Given the description of an element on the screen output the (x, y) to click on. 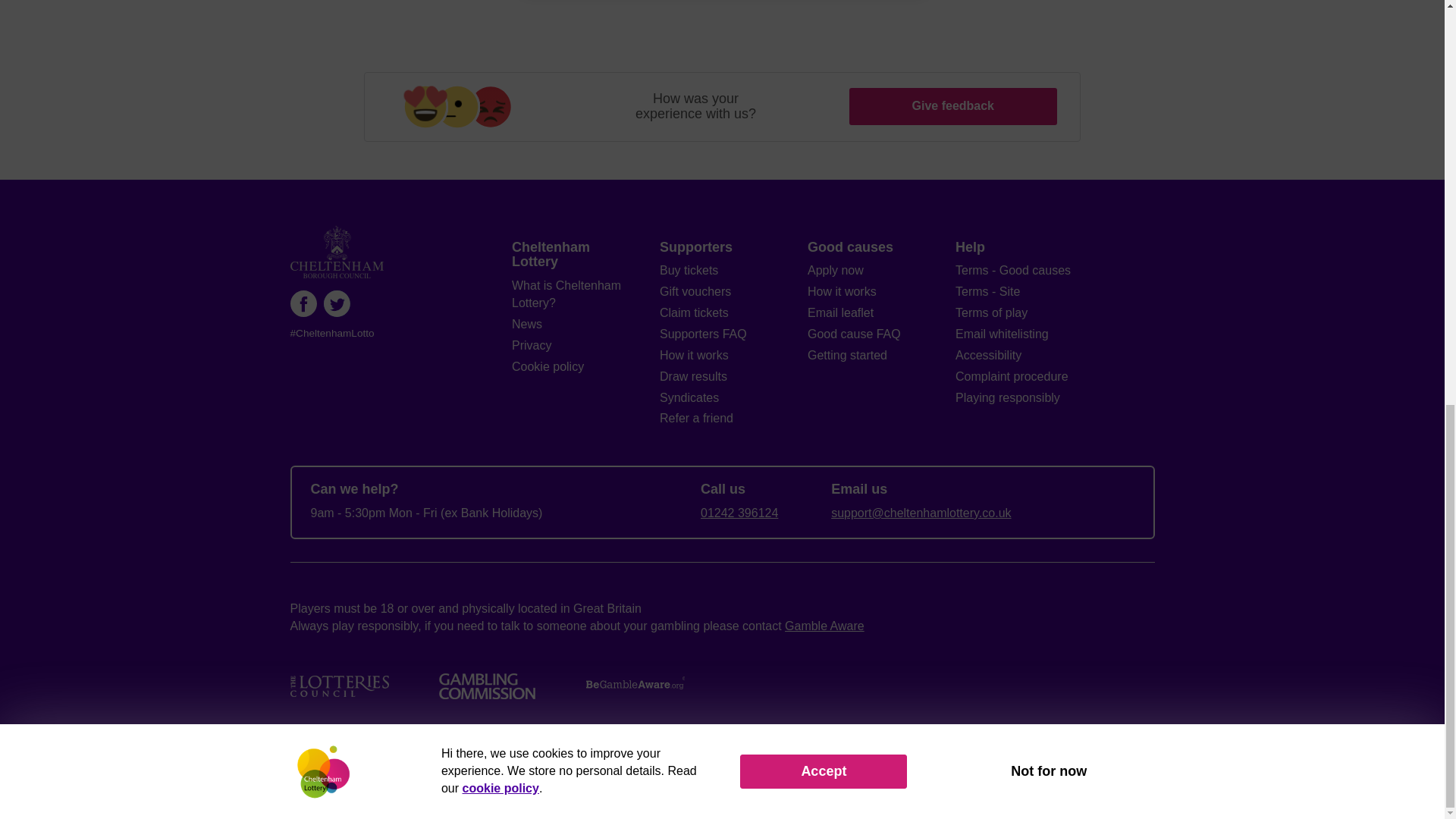
Give feedback (952, 106)
Supporters - How it works (694, 354)
Good causes - How it works (842, 291)
